Given the description of an element on the screen output the (x, y) to click on. 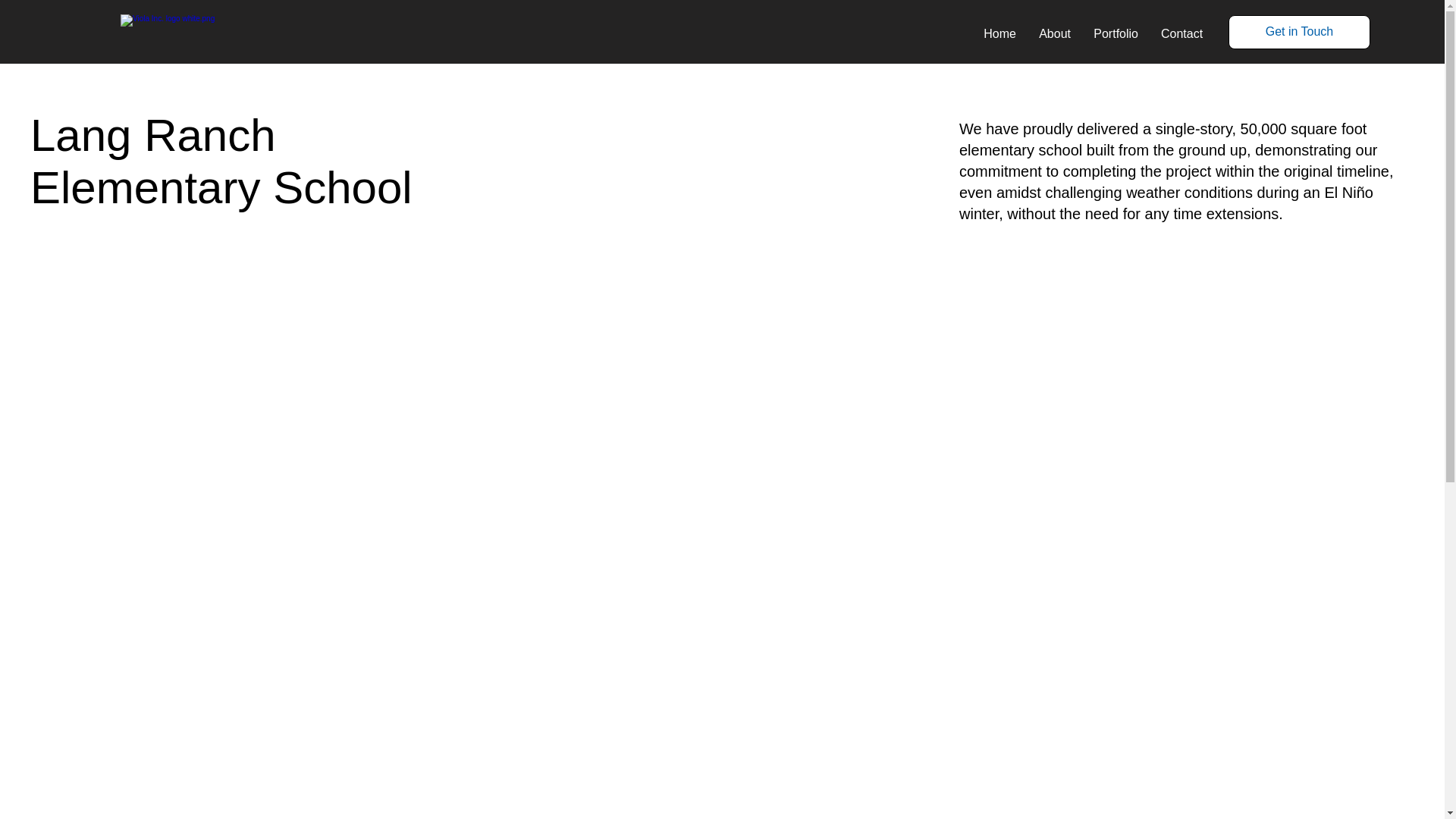
Get in Touch (1299, 32)
Home (999, 34)
About (1054, 34)
Portfolio (1115, 34)
Contact (1182, 34)
